Given the description of an element on the screen output the (x, y) to click on. 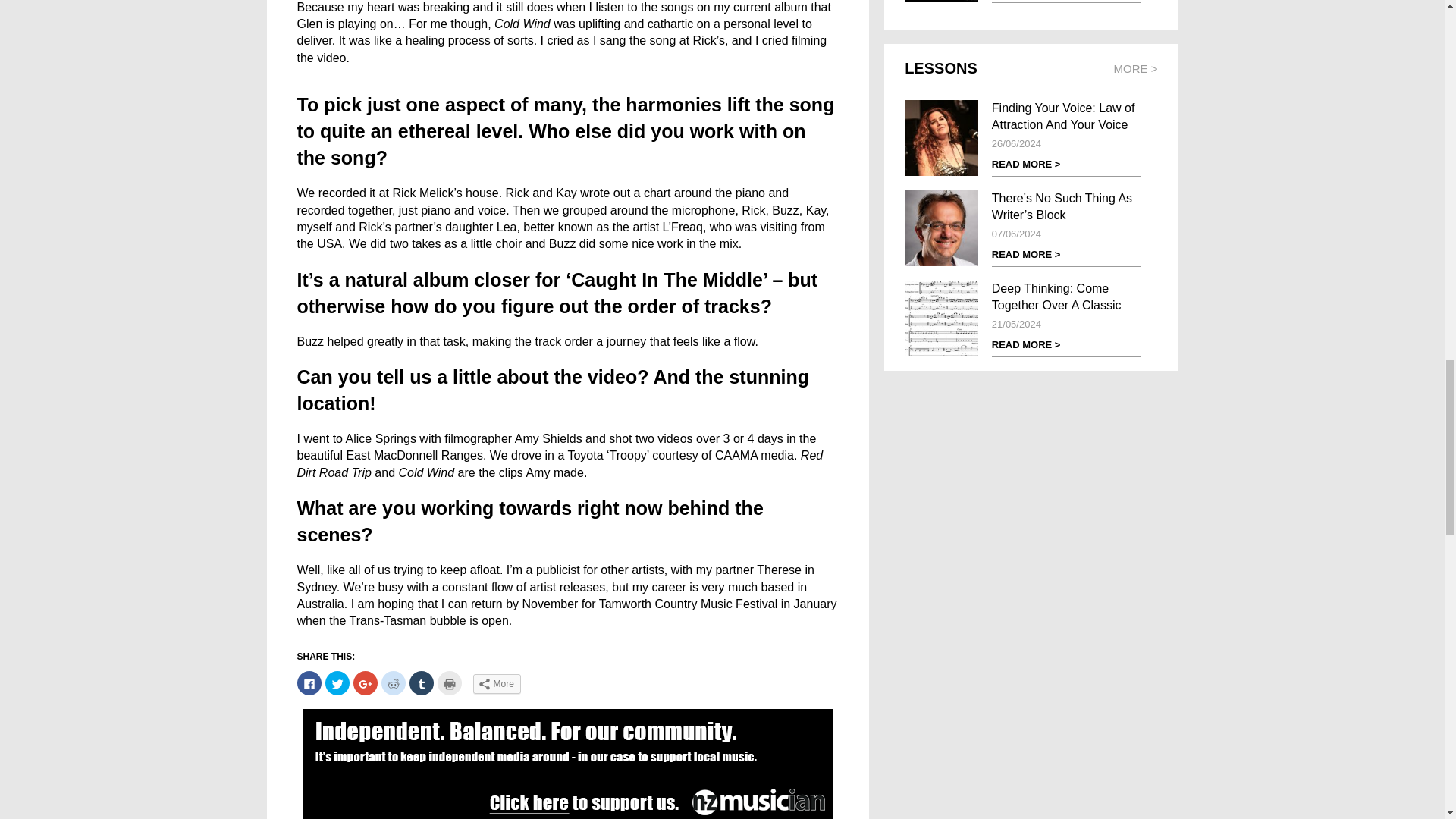
Click to share on Reddit (392, 682)
Click to print (448, 682)
Click to share on Facebook (309, 682)
Click to share on Tumblr (421, 682)
Click to share on Twitter (336, 682)
